Given the description of an element on the screen output the (x, y) to click on. 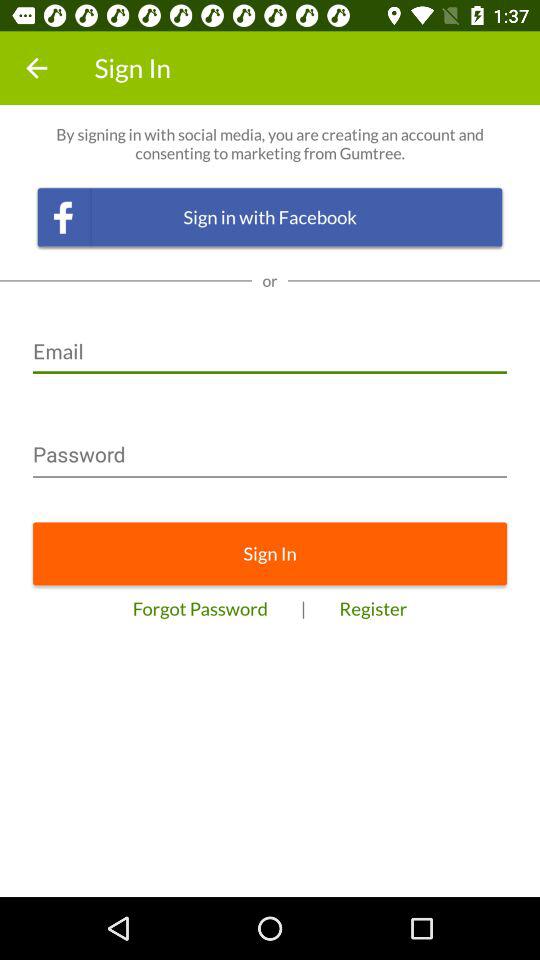
press item to the right of the | (373, 608)
